Given the description of an element on the screen output the (x, y) to click on. 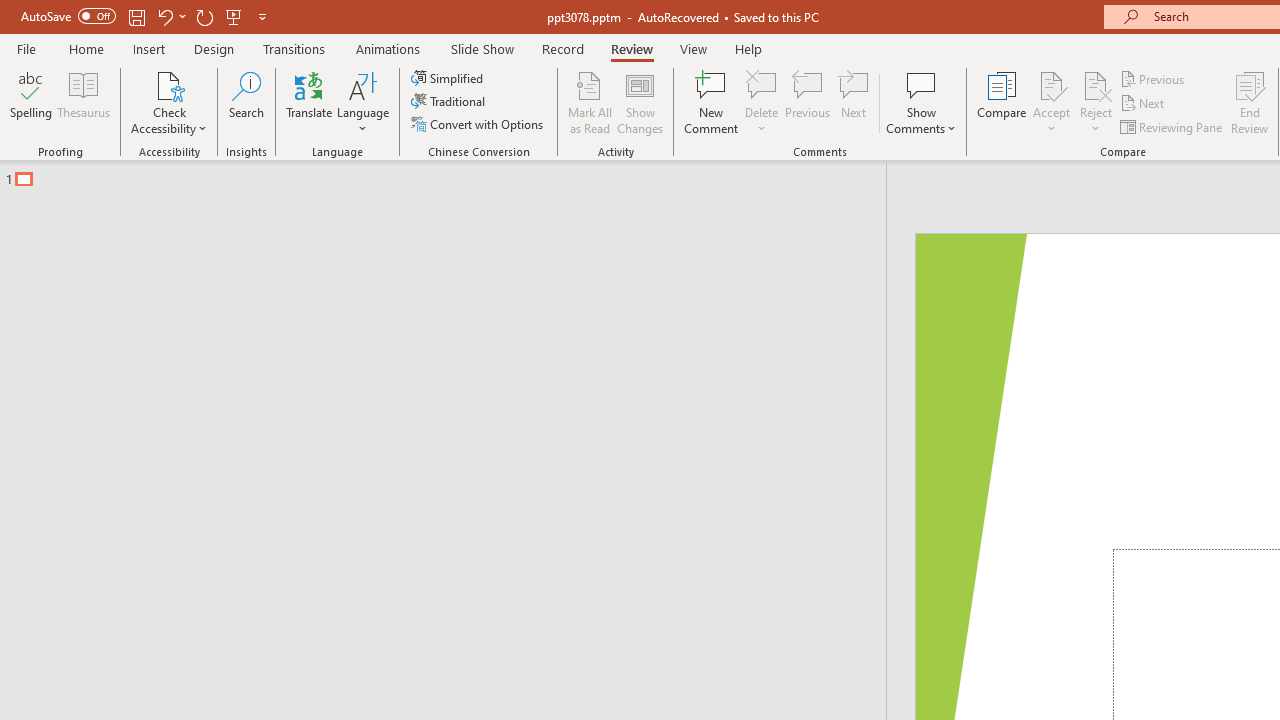
Accept (1051, 102)
Accept Change (1051, 84)
